Given the description of an element on the screen output the (x, y) to click on. 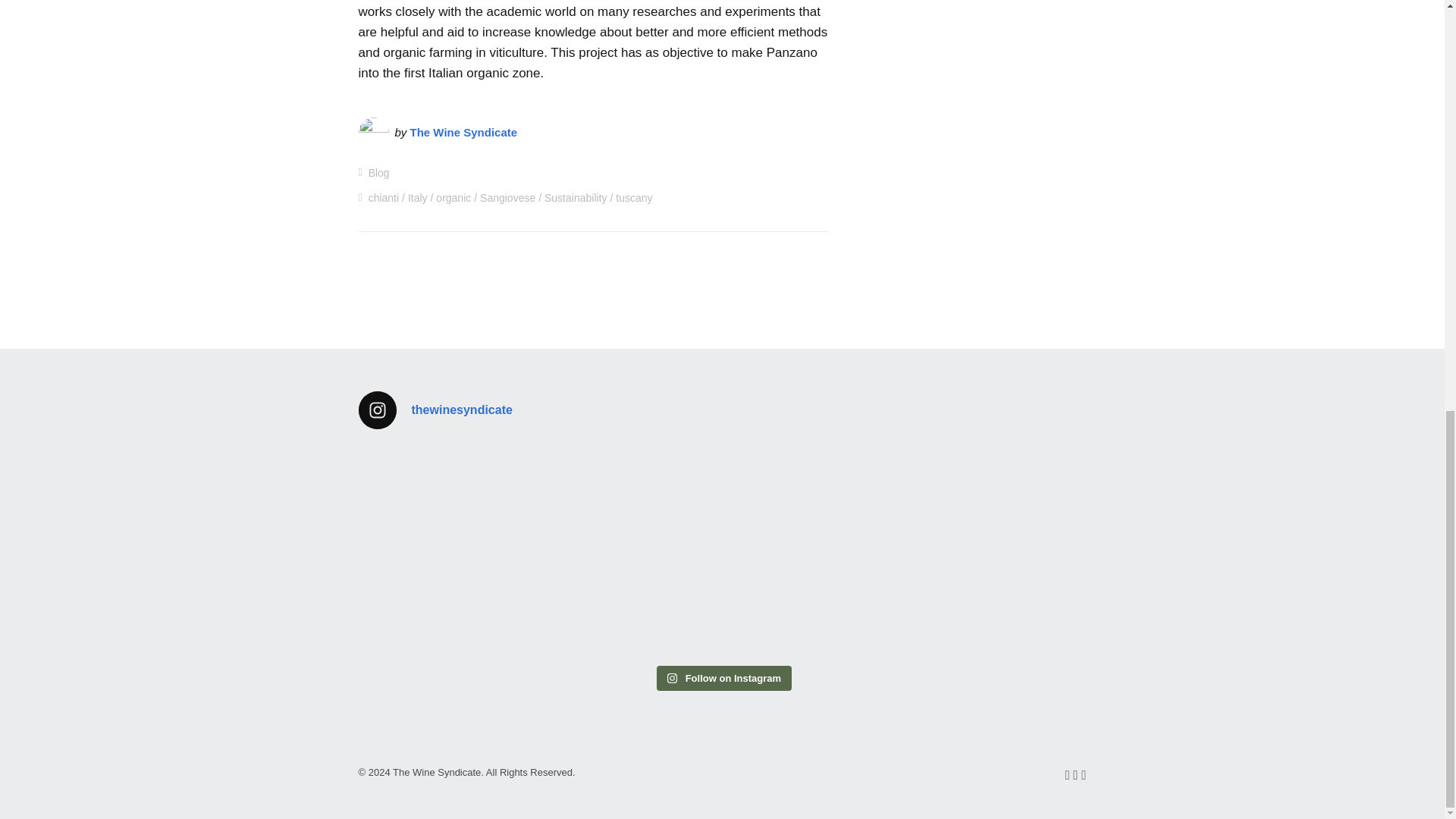
Sustainability (575, 197)
organic (452, 197)
Blog (379, 173)
Italy (417, 197)
The Wine Syndicate (464, 132)
thewinesyndicate (722, 410)
chianti (383, 197)
tuscany (633, 197)
Sangiovese (507, 197)
